Given the description of an element on the screen output the (x, y) to click on. 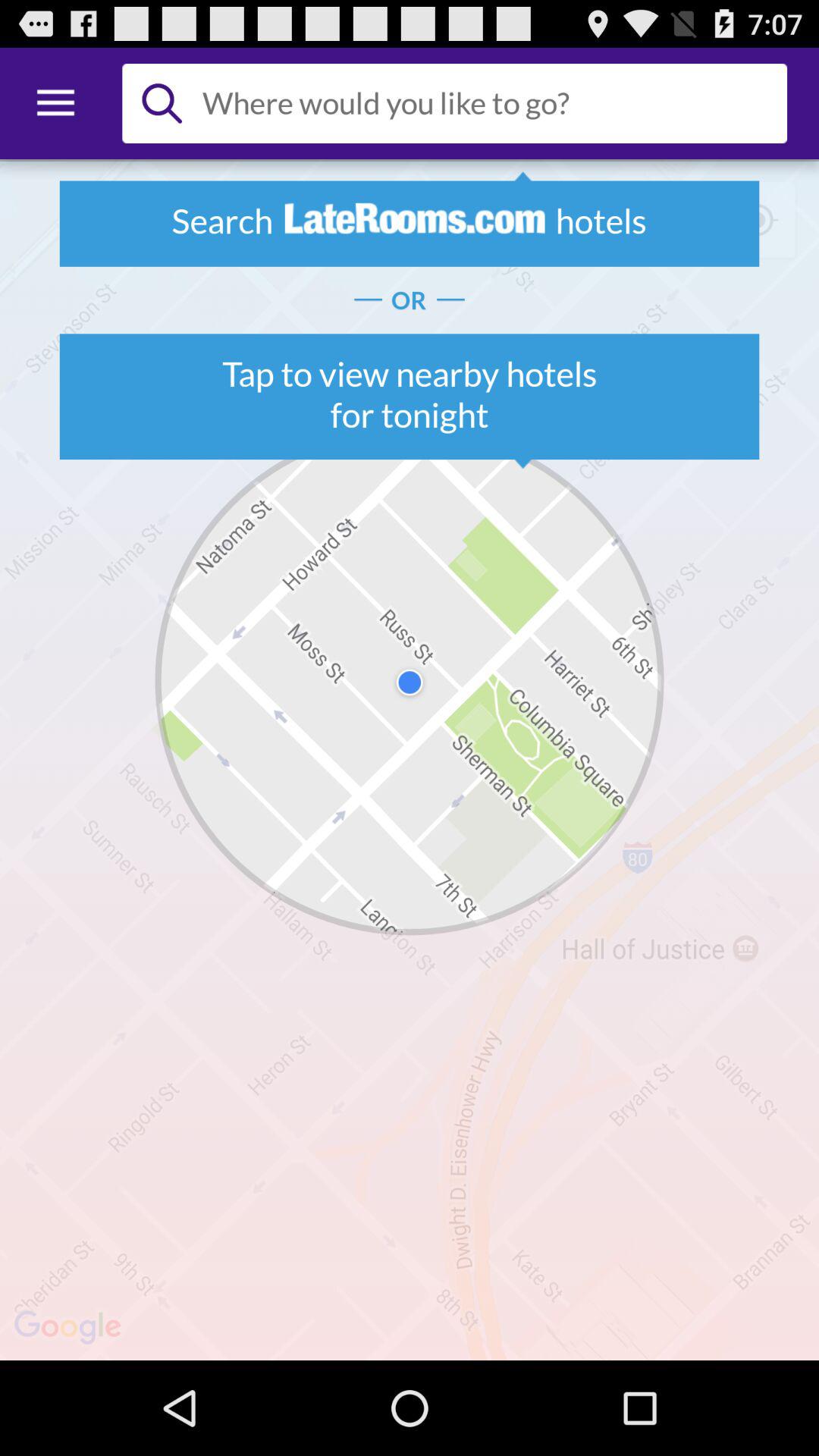
enter preferred location (489, 103)
